Given the description of an element on the screen output the (x, y) to click on. 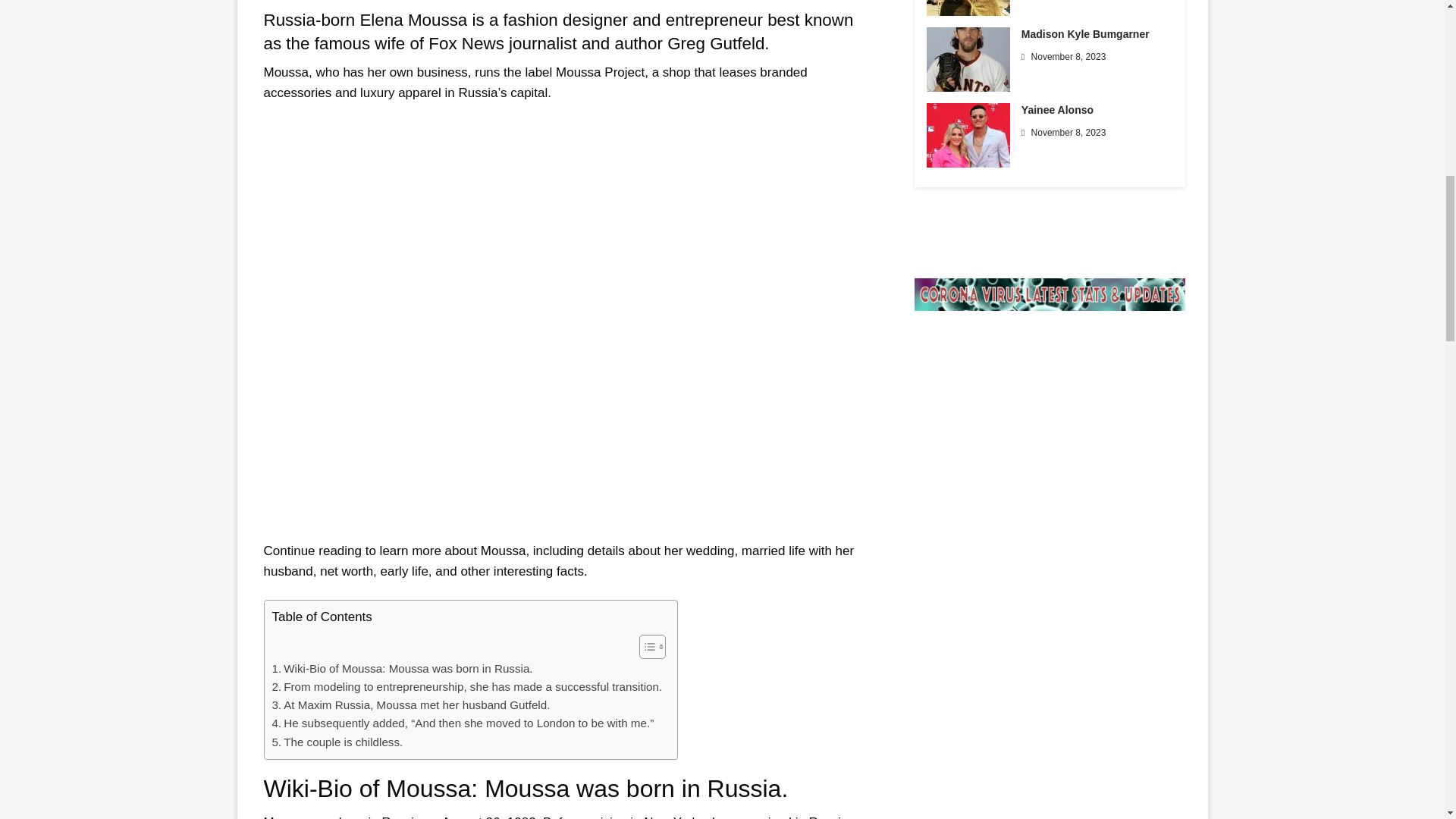
Wiki-Bio of Moussa: Moussa was born in Russia. (401, 669)
Wiki-Bio of Moussa: Moussa was born in Russia. (401, 669)
At Maxim Russia, Moussa met her husband Gutfeld. (410, 705)
The couple is childless. (336, 742)
